Given the description of an element on the screen output the (x, y) to click on. 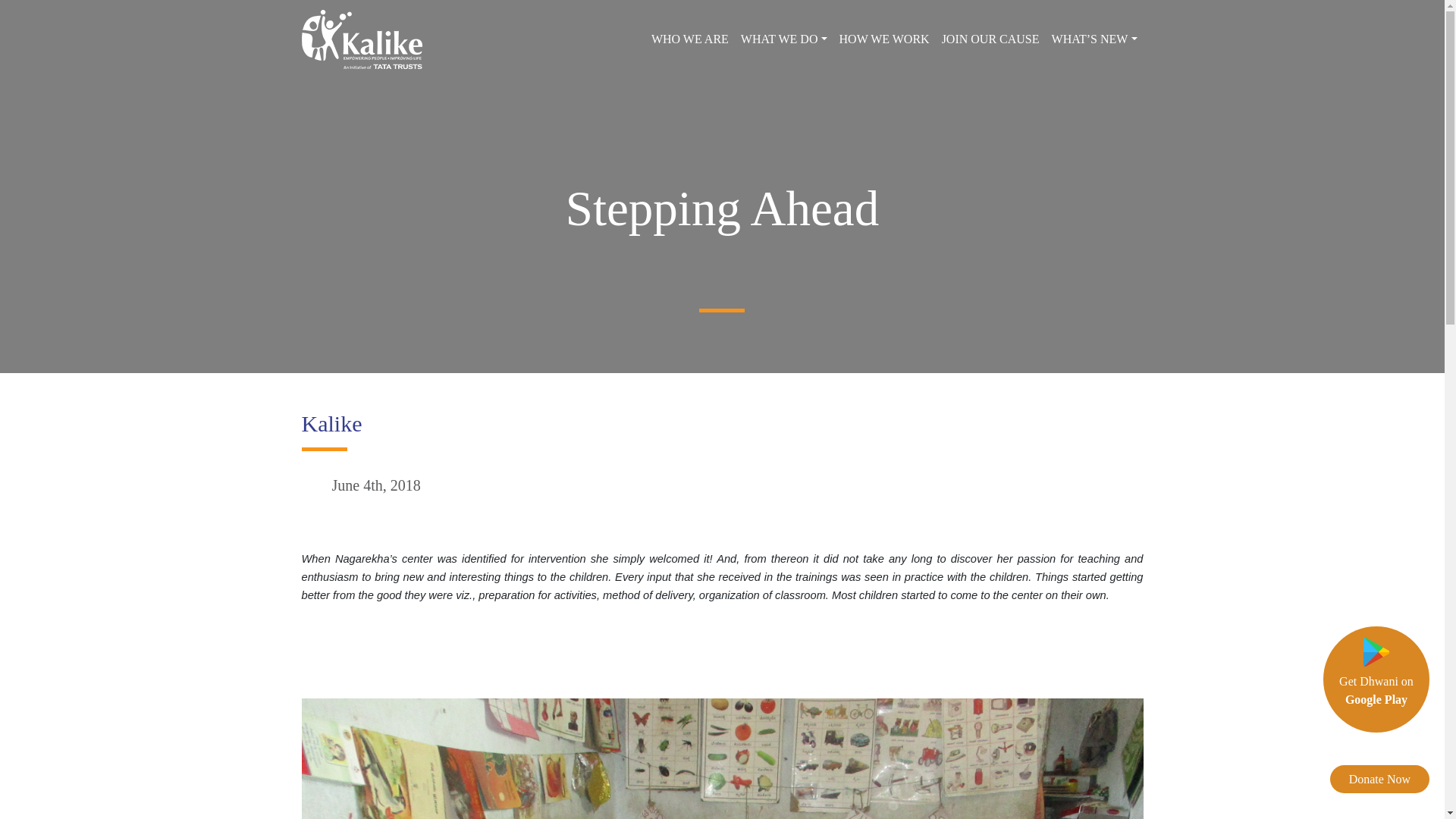
Donate Now (1379, 778)
WHAT WE DO (783, 39)
WHO WE ARE (1376, 690)
JOIN OUR CAUSE (690, 39)
HOW WE WORK (990, 39)
